Given the description of an element on the screen output the (x, y) to click on. 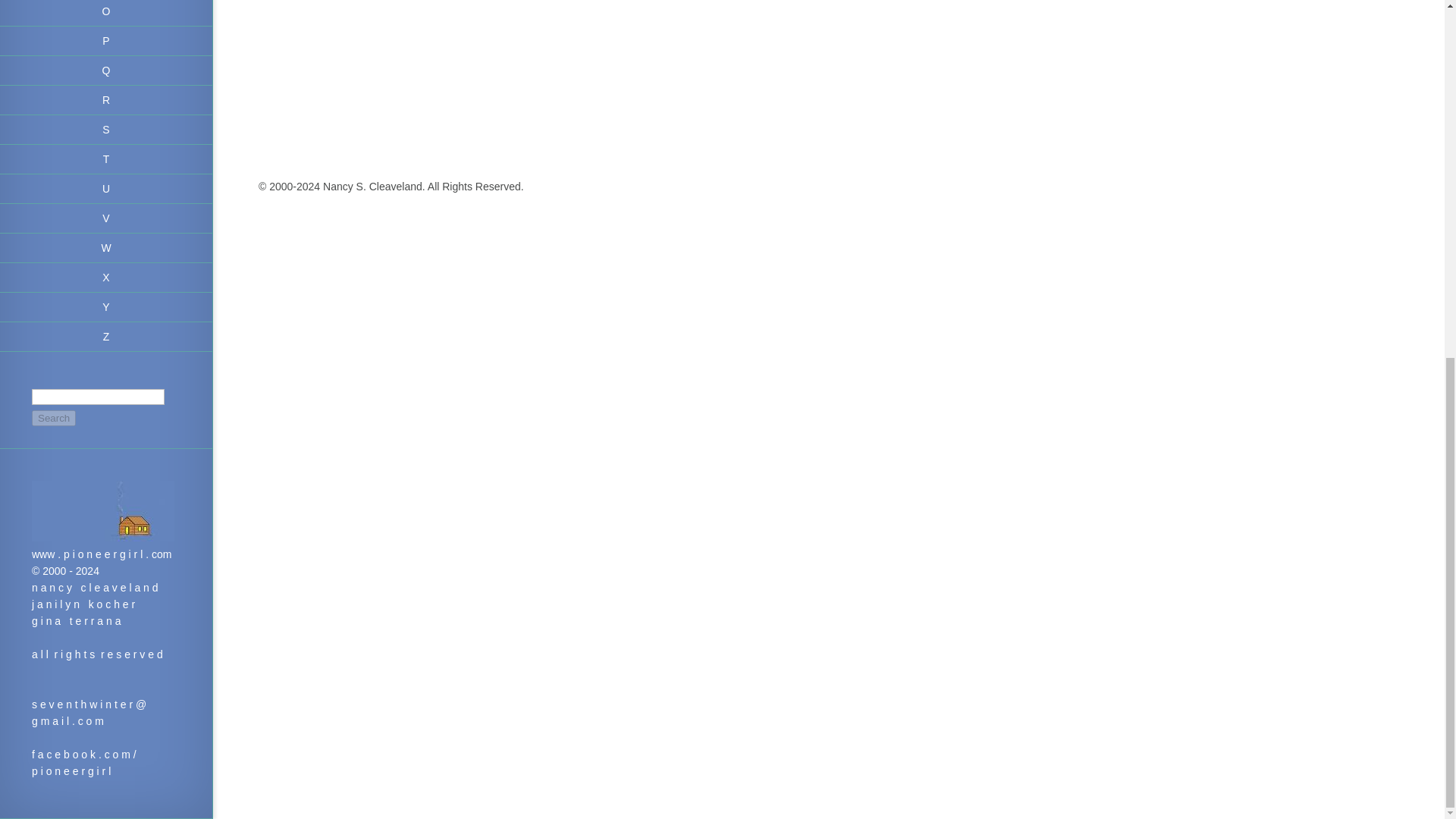
Search (53, 417)
T (106, 159)
X (106, 277)
Z (106, 337)
S (106, 129)
P (106, 41)
R (106, 100)
U (106, 188)
V (106, 218)
Q (106, 70)
